Given the description of an element on the screen output the (x, y) to click on. 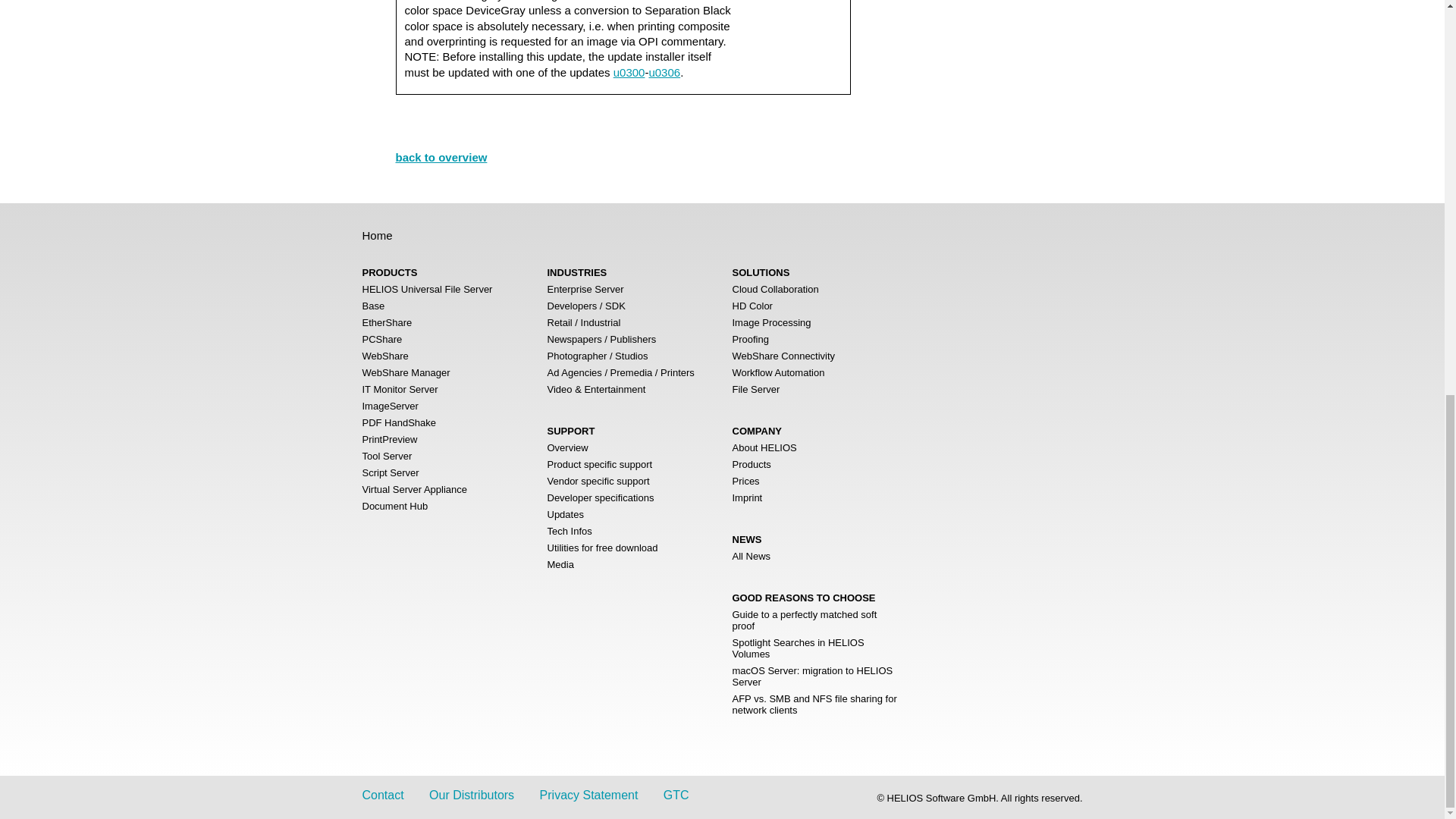
Workflow Automation (778, 372)
Overview (567, 447)
WebShare Connectivity (783, 355)
Tool Server (387, 455)
HD Color (752, 306)
EtherShare (387, 322)
Script Server (390, 472)
u0306 (663, 72)
back to overview (441, 156)
Product specific support (599, 464)
